Given the description of an element on the screen output the (x, y) to click on. 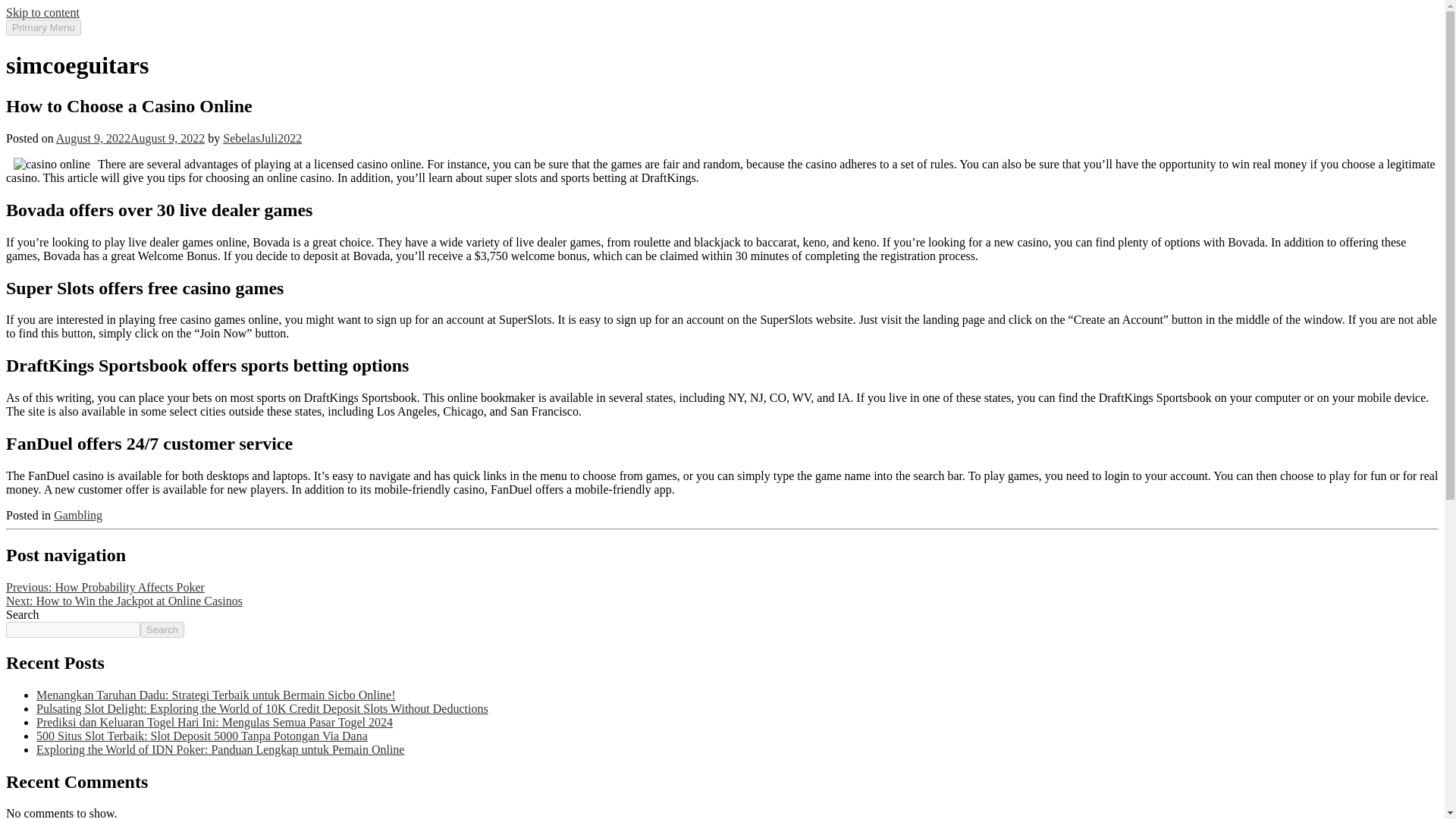
Primary Menu (43, 27)
August 9, 2022August 9, 2022 (130, 137)
Next: How to Win the Jackpot at Online Casinos (124, 600)
Search (161, 629)
Gambling (77, 514)
Skip to content (42, 11)
